Given the description of an element on the screen output the (x, y) to click on. 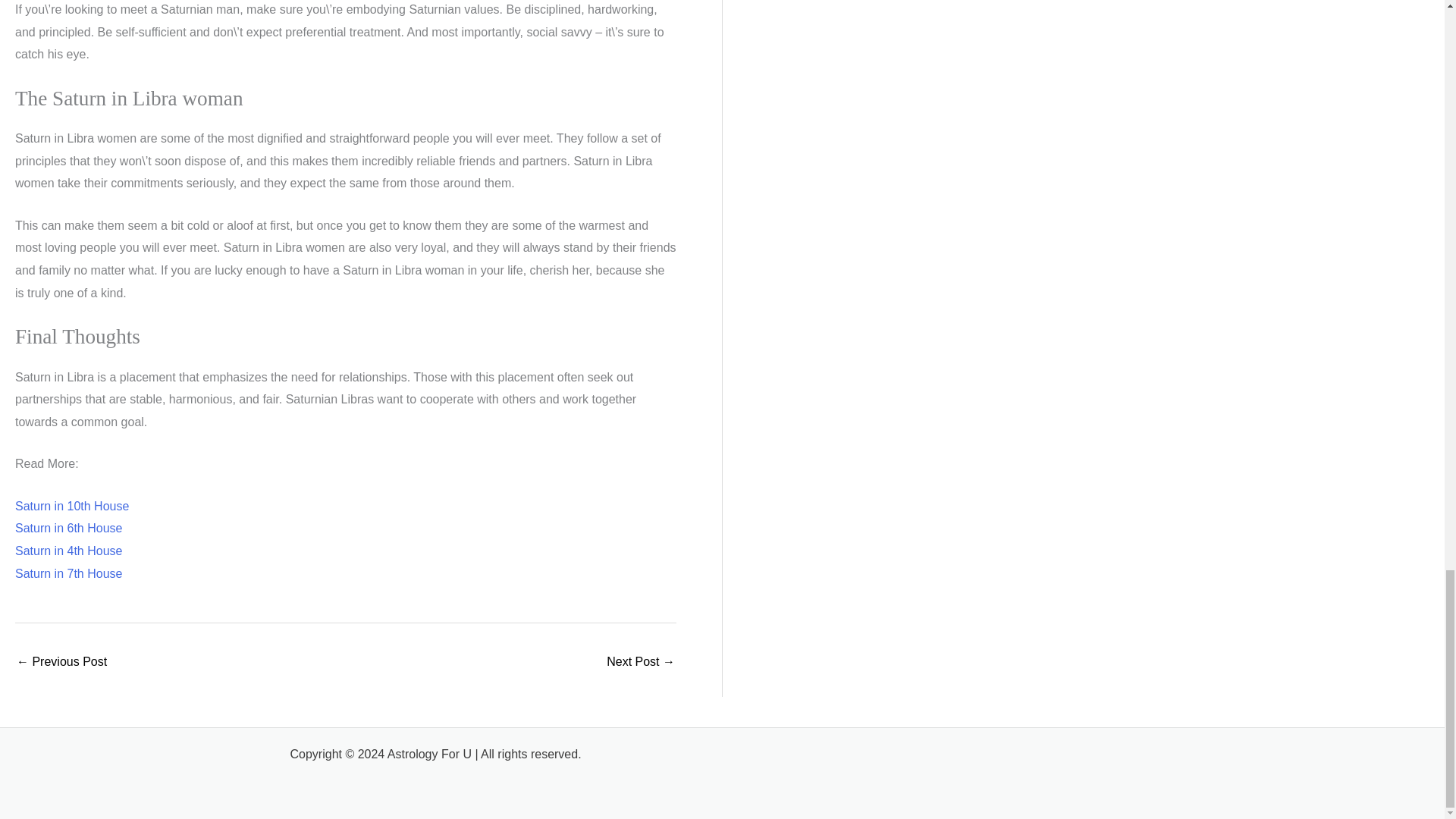
Mars In 2nd House (641, 663)
Mercury In 7th House (61, 663)
